Given the description of an element on the screen output the (x, y) to click on. 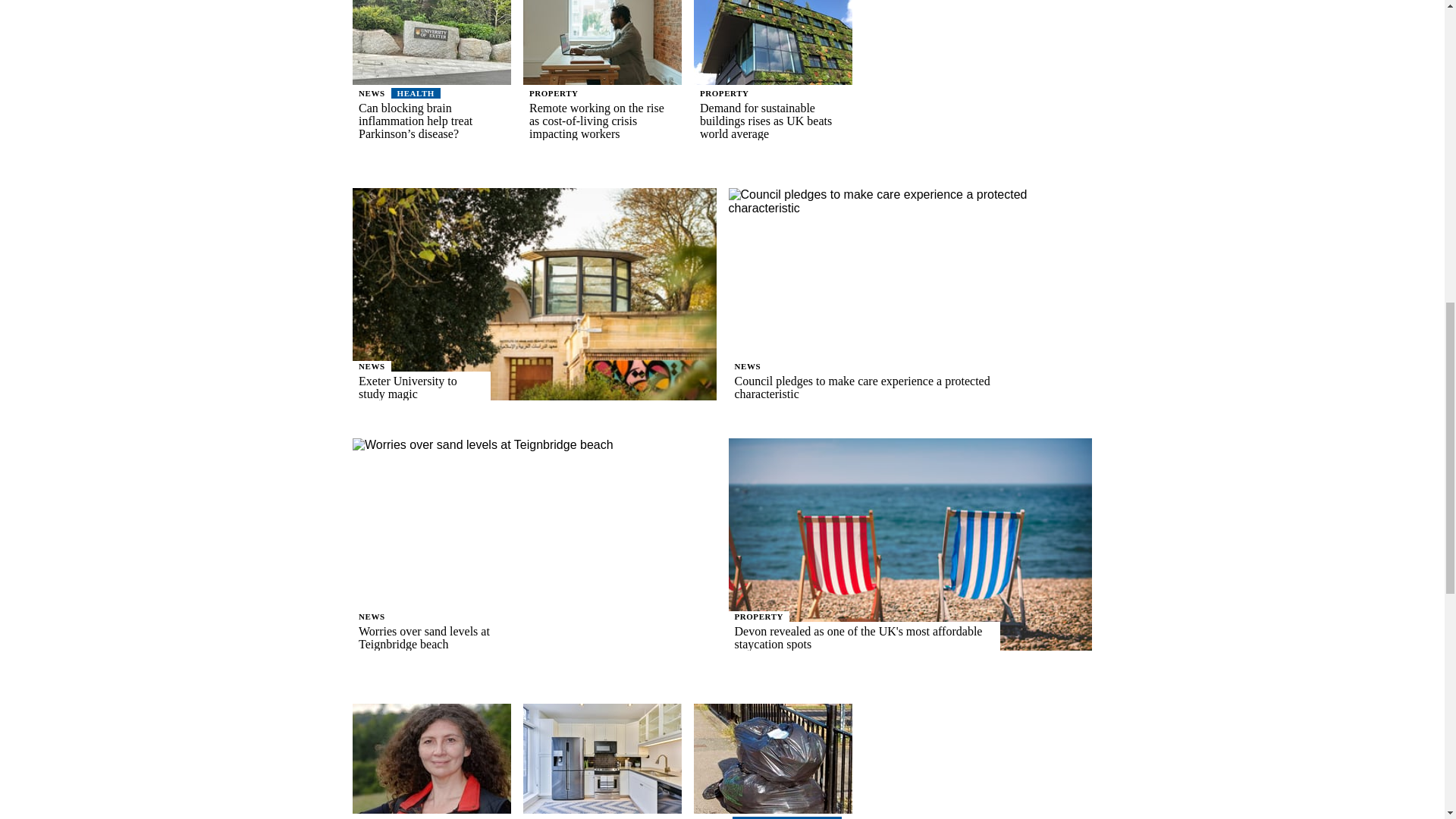
NEWS (371, 92)
HEALTH (416, 92)
PROPERTY (553, 92)
PROPERTY (724, 92)
